Given the description of an element on the screen output the (x, y) to click on. 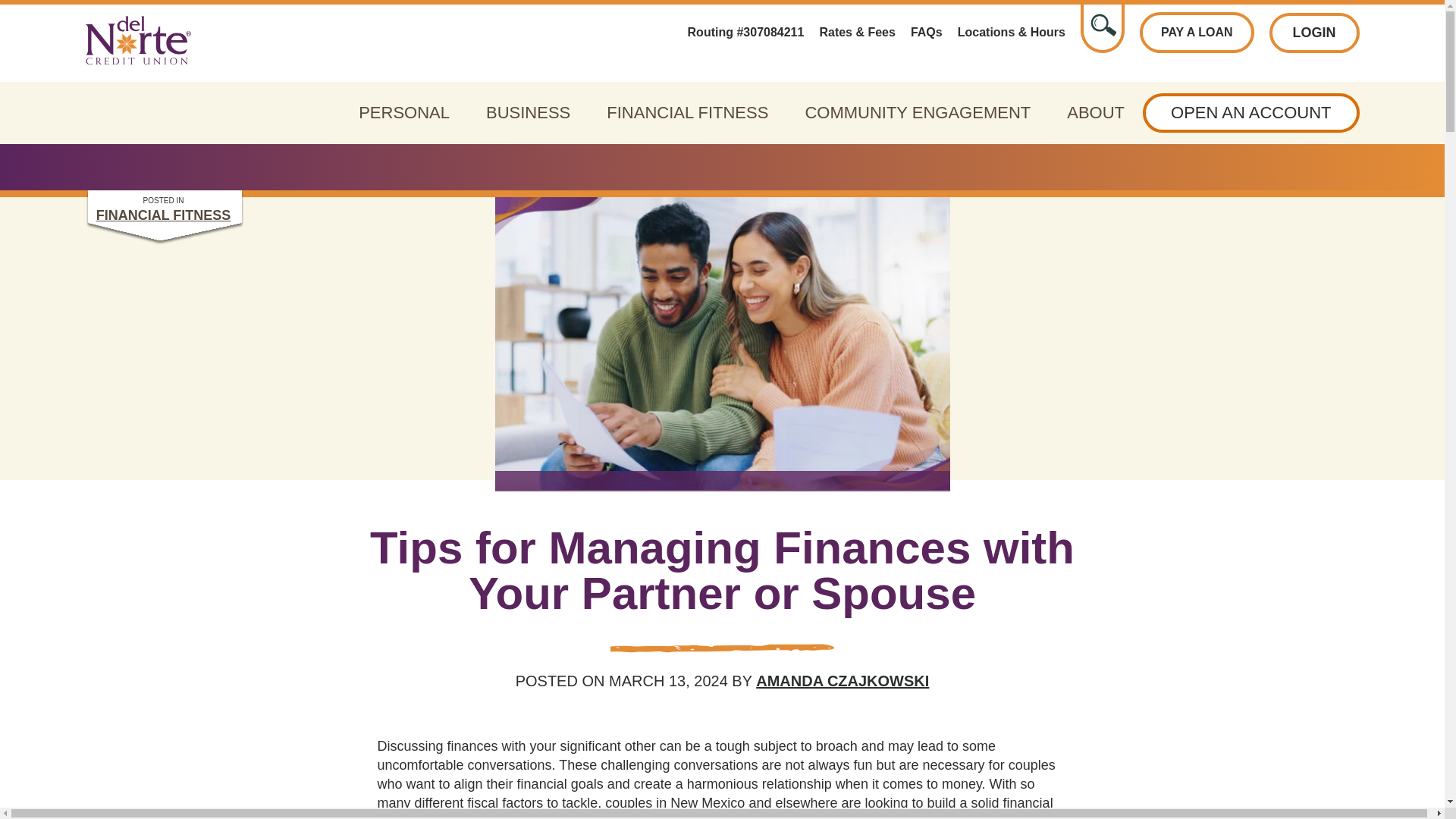
PERSONAL (403, 112)
LOGIN (1314, 33)
PAY A LOAN (1196, 32)
FAQs (926, 32)
